Given the description of an element on the screen output the (x, y) to click on. 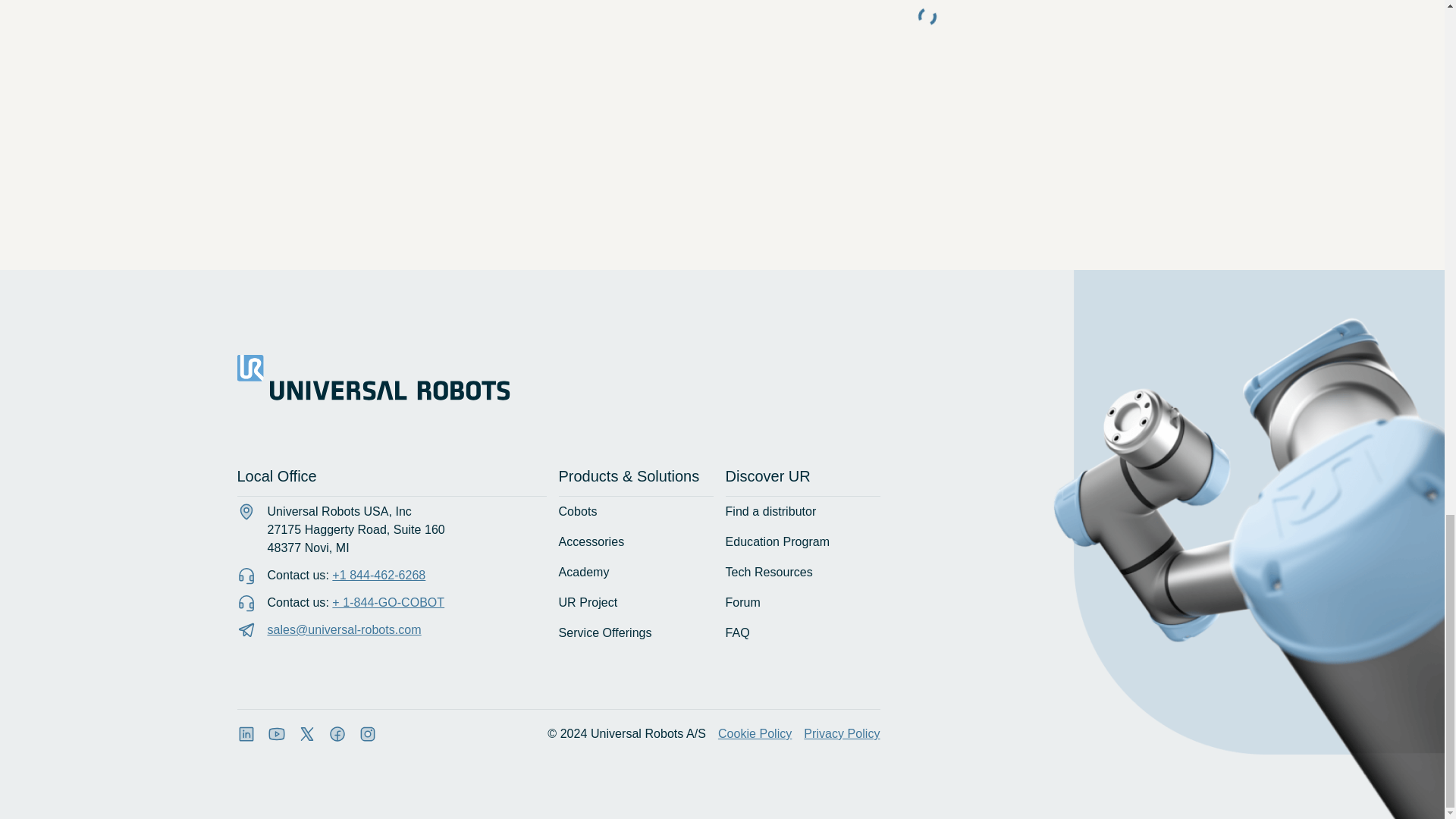
Cobots (585, 511)
Cobots (585, 511)
